Given the description of an element on the screen output the (x, y) to click on. 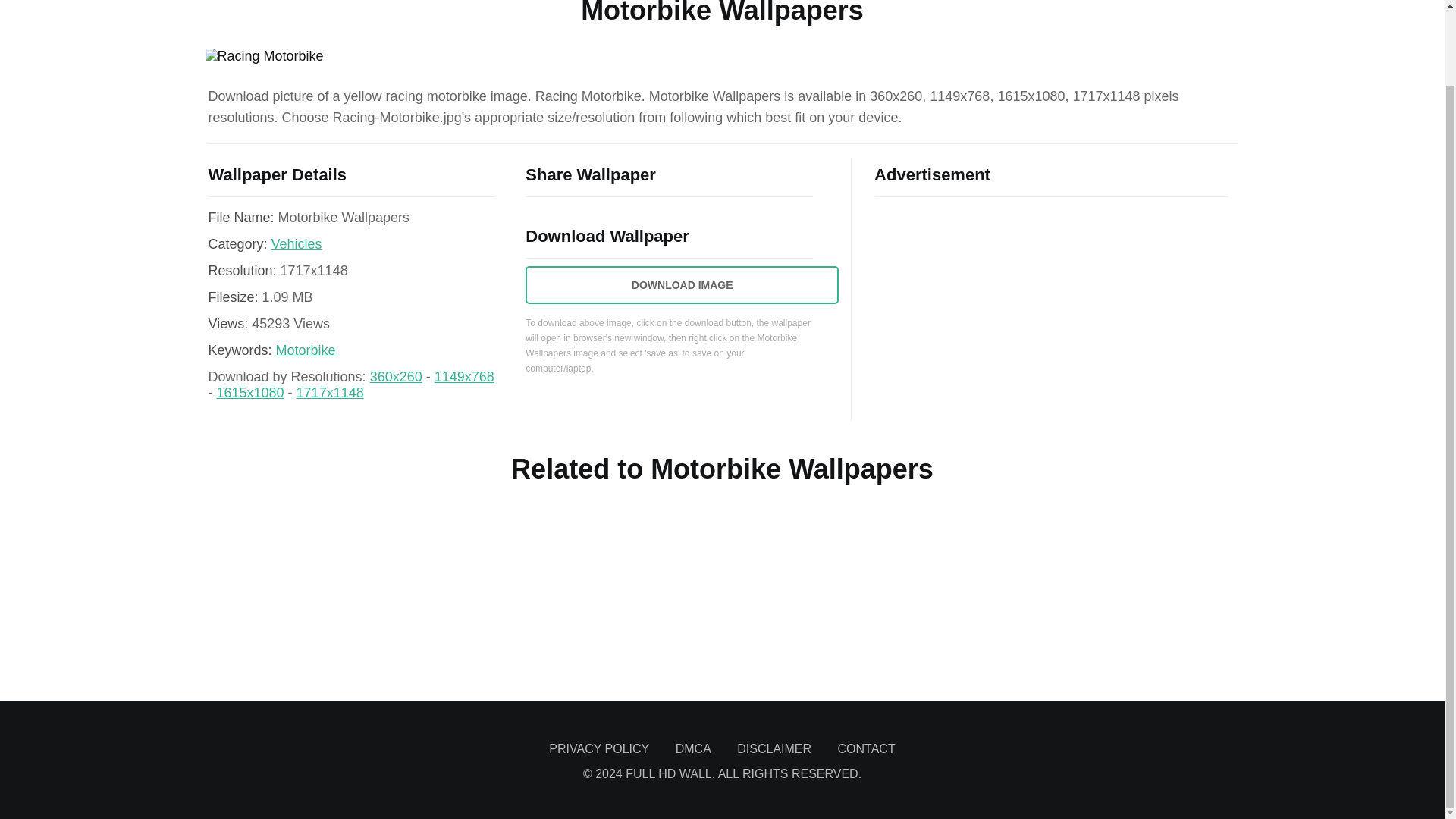
View all posts in Vehicles (295, 243)
